Given the description of an element on the screen output the (x, y) to click on. 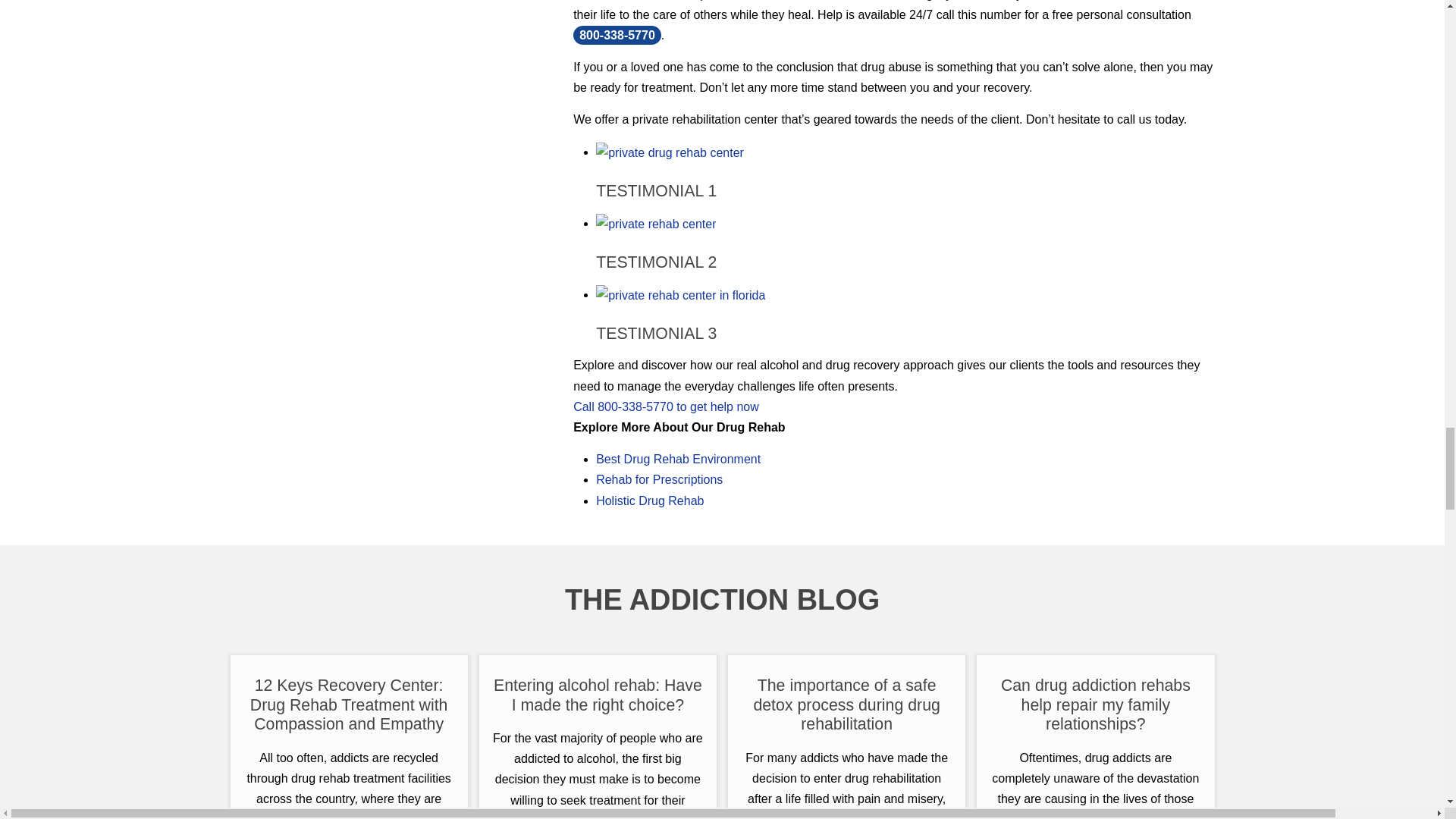
Entering alcohol rehab: Have I made the right choice? (598, 695)
